Given the description of an element on the screen output the (x, y) to click on. 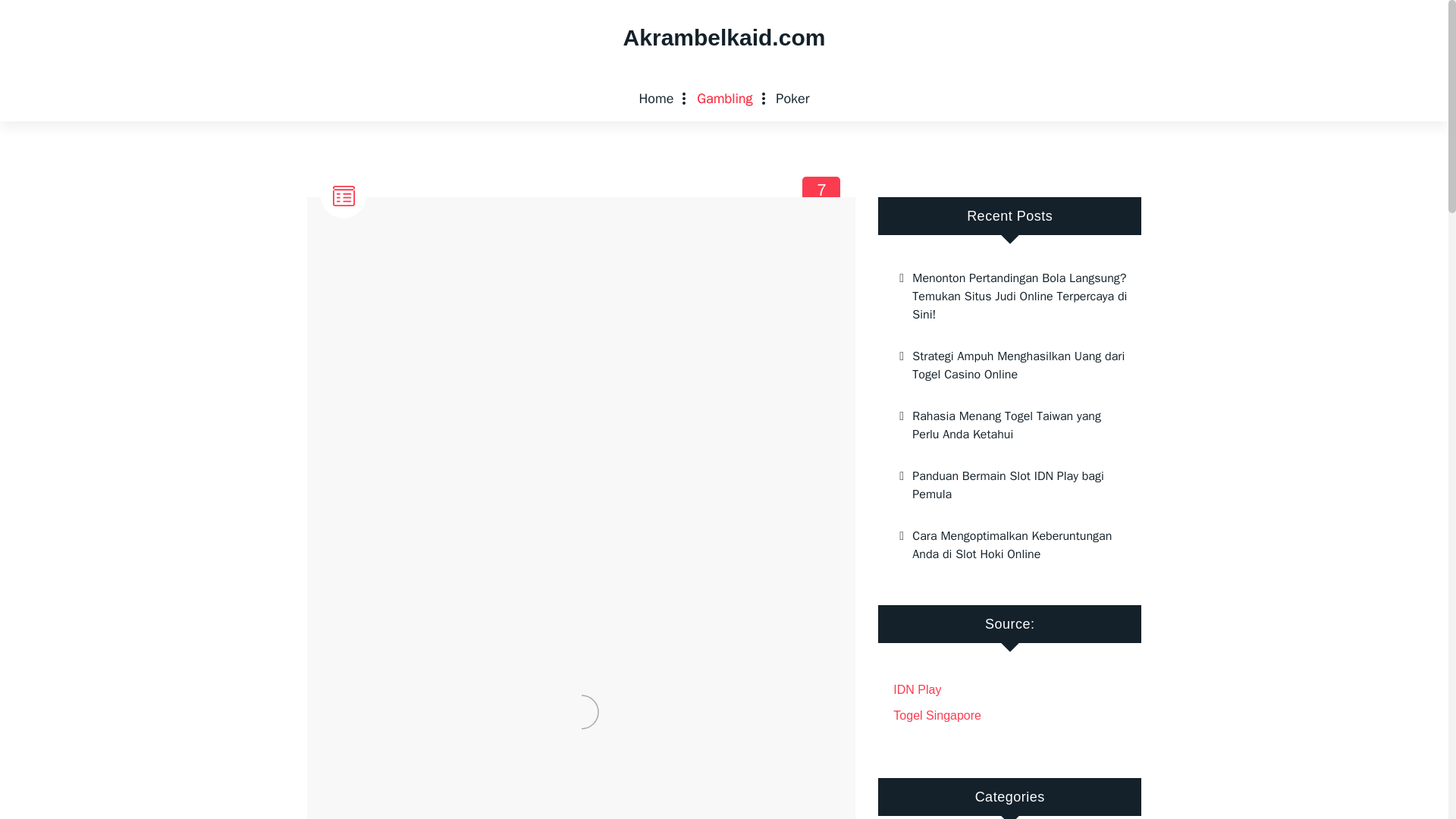
Home (655, 98)
Gambling (724, 98)
Cara Mengoptimalkan Keberuntungan Anda di Slot Hoki Online (1009, 544)
Rahasia Menang Togel Taiwan yang Perlu Anda Ketahui (1009, 425)
IDN Play (916, 689)
Poker (821, 195)
Panduan Bermain Slot IDN Play bagi Pemula (791, 98)
Strategi Ampuh Menghasilkan Uang dari Togel Casino Online (1009, 485)
Home (1009, 364)
